Given the description of an element on the screen output the (x, y) to click on. 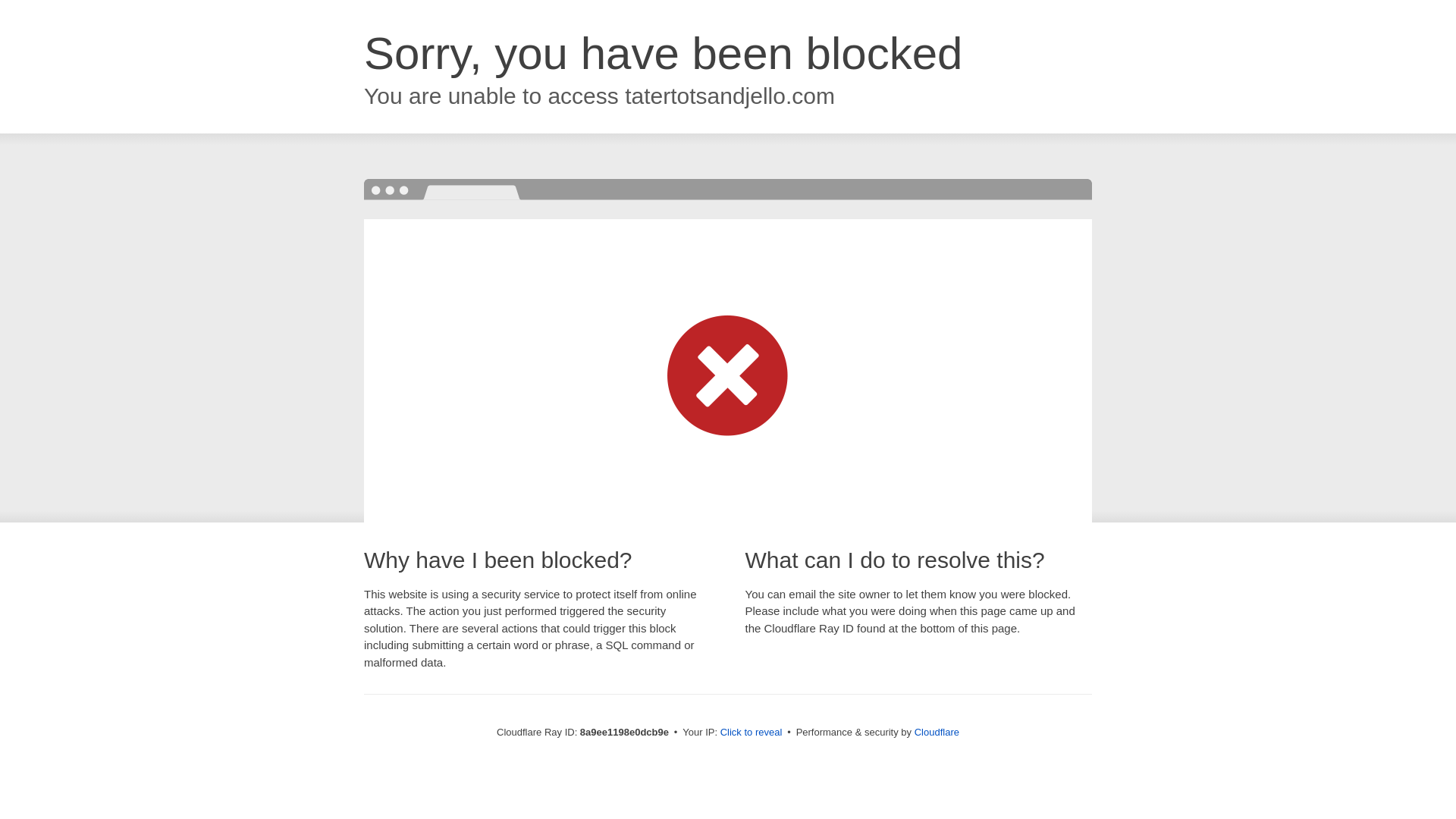
Cloudflare (936, 731)
Click to reveal (751, 732)
